Given the description of an element on the screen output the (x, y) to click on. 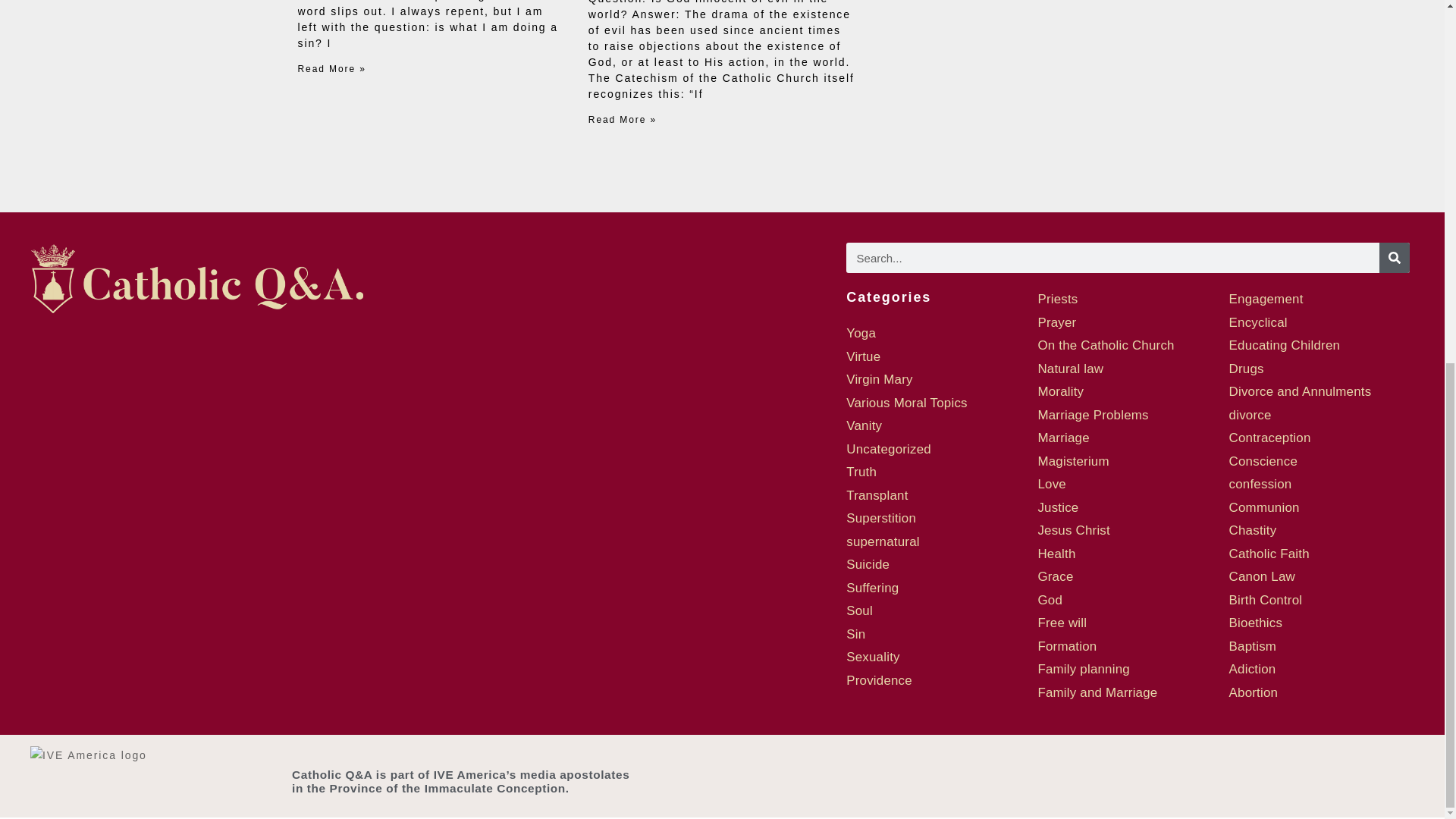
Soul (858, 610)
Morality (1059, 391)
Justice (1057, 507)
Virgin Mary (878, 379)
Virtue (862, 356)
Vanity (863, 425)
Marriage (1062, 437)
Marriage Problems (1092, 414)
Sin (854, 634)
Transplant (876, 495)
